Given the description of an element on the screen output the (x, y) to click on. 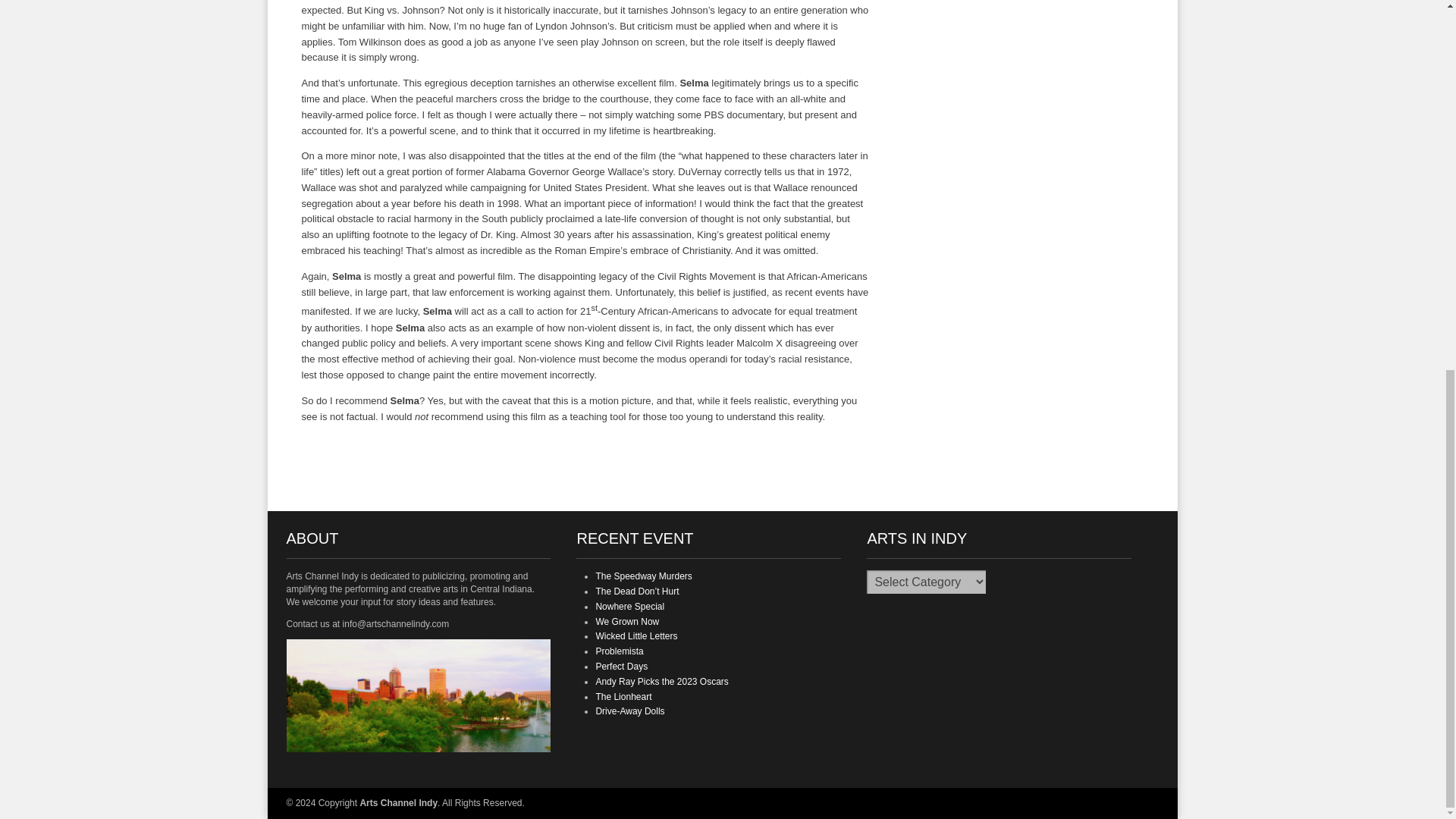
Nowhere Special (629, 606)
We Grown Now (627, 621)
The Speedway Murders (643, 575)
